Given the description of an element on the screen output the (x, y) to click on. 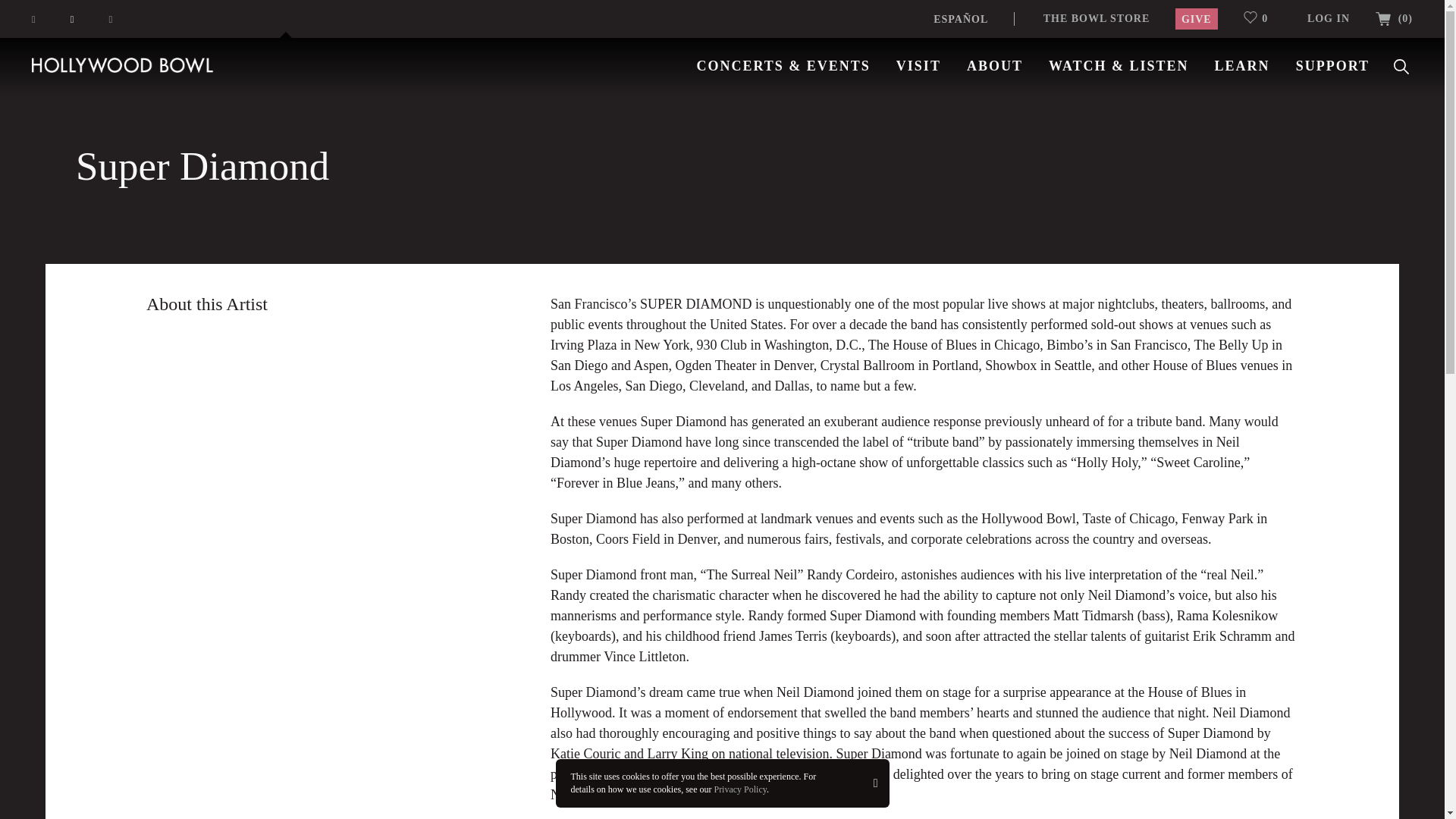
Homepage (123, 64)
ABOUT (994, 65)
LOG IN (1328, 18)
THE BOWL STORE (1096, 18)
GIVE (1195, 18)
VISIT (918, 65)
0 (1262, 18)
